Given the description of an element on the screen output the (x, y) to click on. 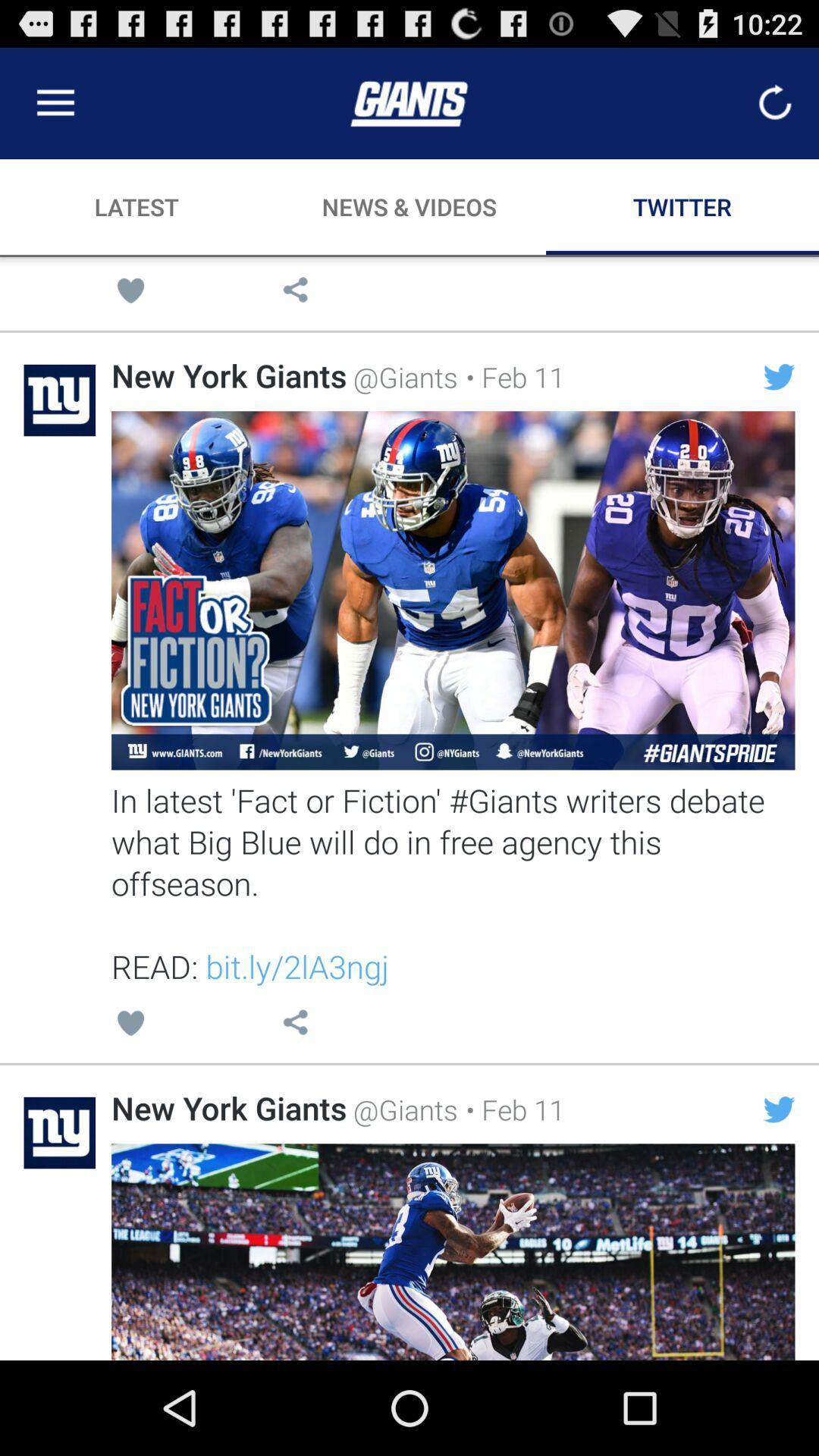
the image contains a description of the article (453, 590)
